Given the description of an element on the screen output the (x, y) to click on. 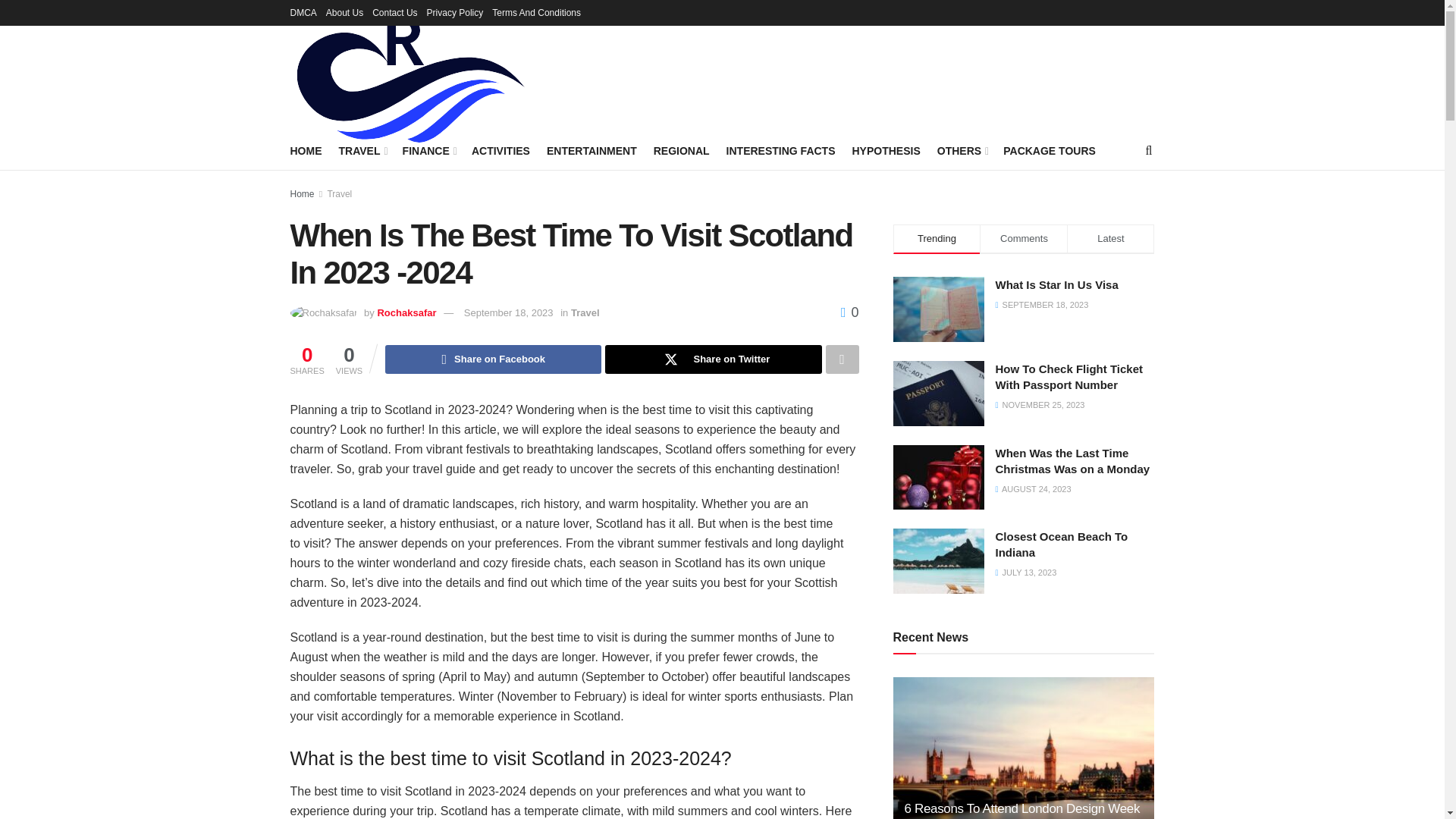
DMCA (302, 12)
PACKAGE TOURS (1049, 150)
About Us (344, 12)
FINANCE (428, 150)
HYPOTHESIS (885, 150)
TRAVEL (361, 150)
INTERESTING FACTS (780, 150)
Terms And Conditions (536, 12)
Privacy Policy (454, 12)
Contact Us (394, 12)
ACTIVITIES (500, 150)
OTHERS (962, 150)
HOME (305, 150)
REGIONAL (681, 150)
ENTERTAINMENT (592, 150)
